Given the description of an element on the screen output the (x, y) to click on. 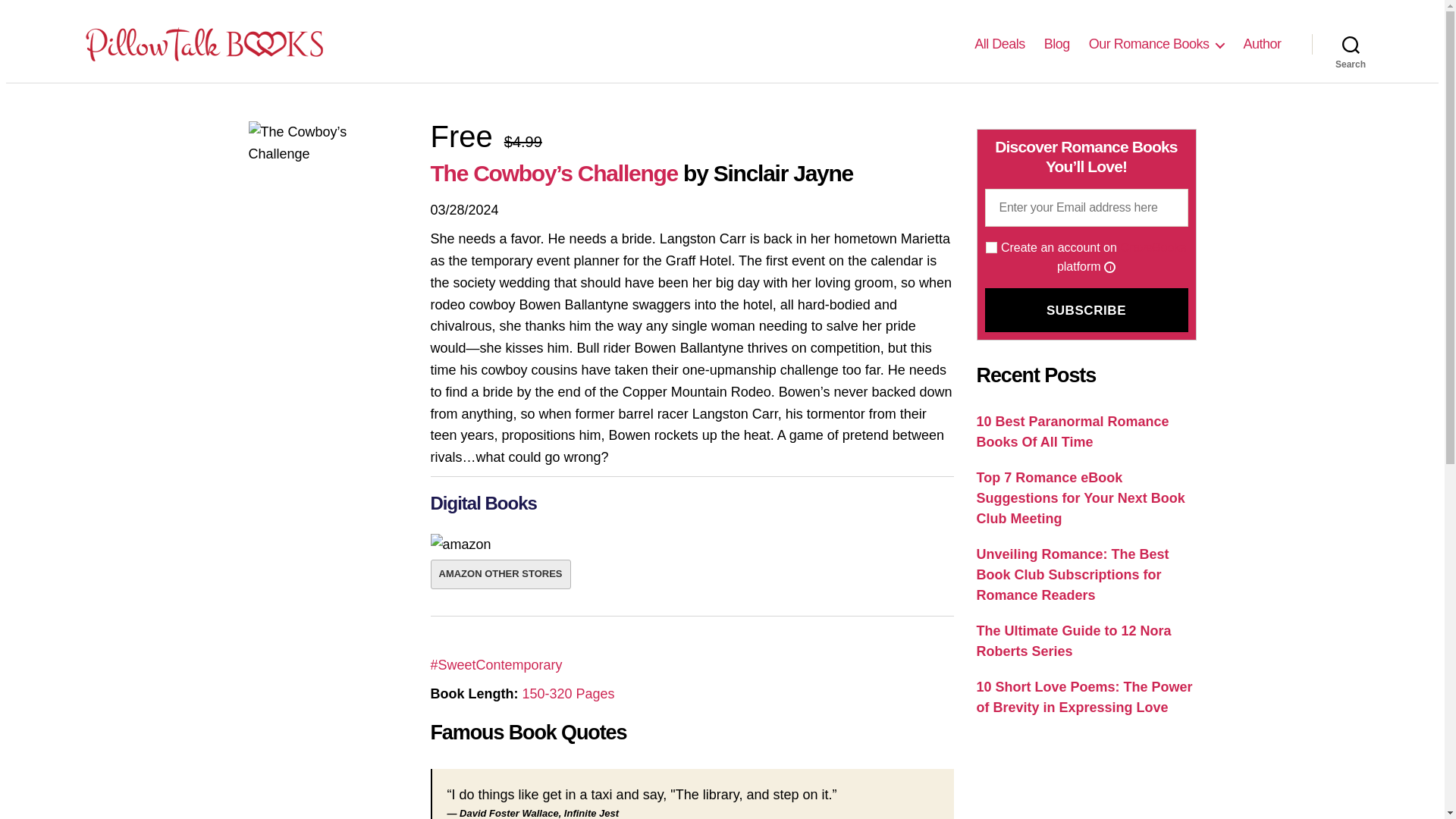
Blog (1056, 44)
Subscribe (1086, 310)
Search (1350, 43)
Amazon (461, 544)
true (991, 247)
Our Romance Books (1156, 44)
All Deals (999, 44)
Author (1262, 44)
